Given the description of an element on the screen output the (x, y) to click on. 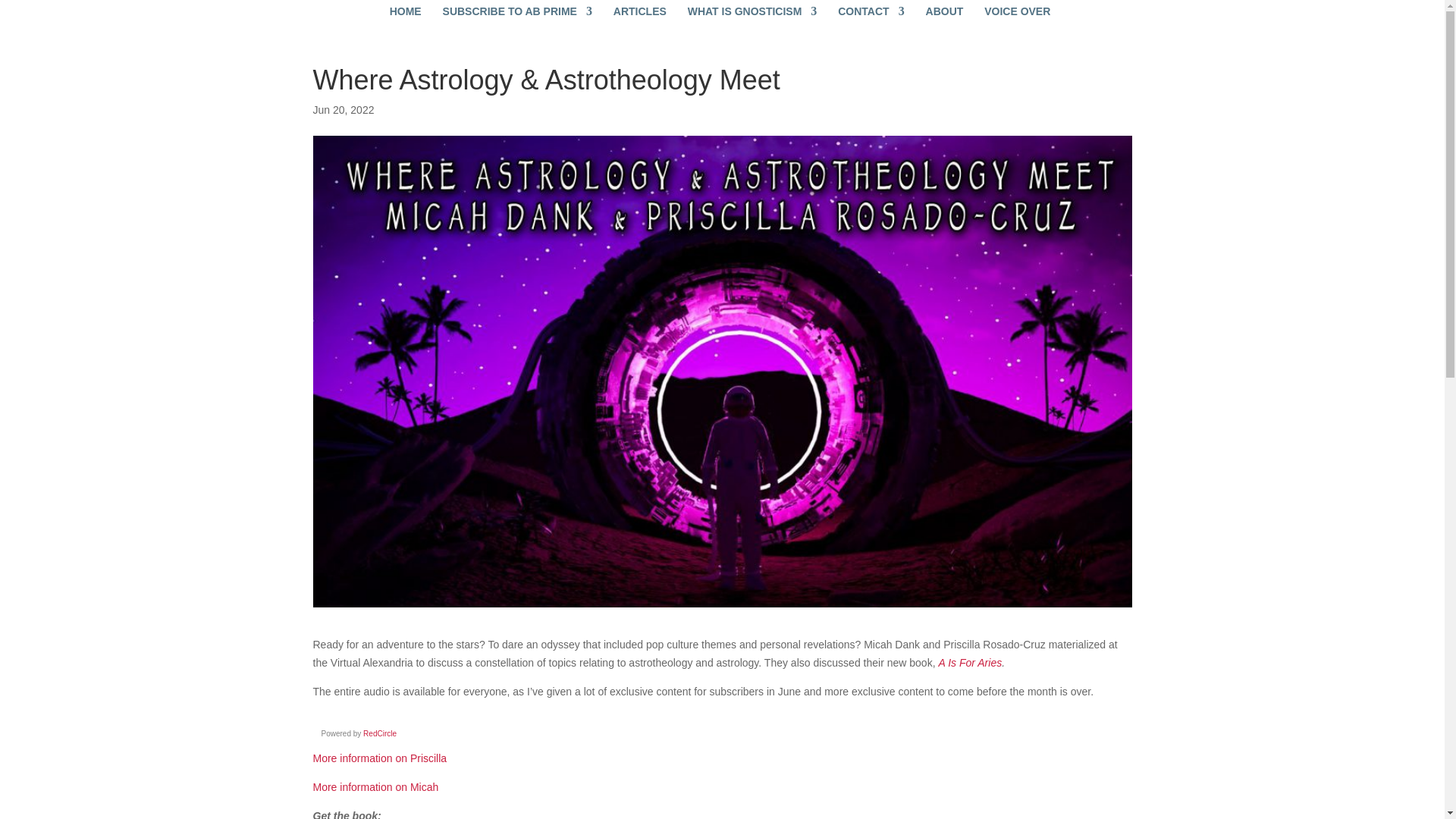
WHAT IS GNOSTICISM (747, 12)
A Is For Aries (969, 662)
ABOUT (940, 12)
SUBSCRIBE TO AB PRIME (513, 12)
VOICE OVER (1012, 12)
ARTICLES (635, 12)
More information on Priscilla (379, 758)
More information on Micah (375, 787)
CONTACT (866, 12)
HOME (401, 12)
